Given the description of an element on the screen output the (x, y) to click on. 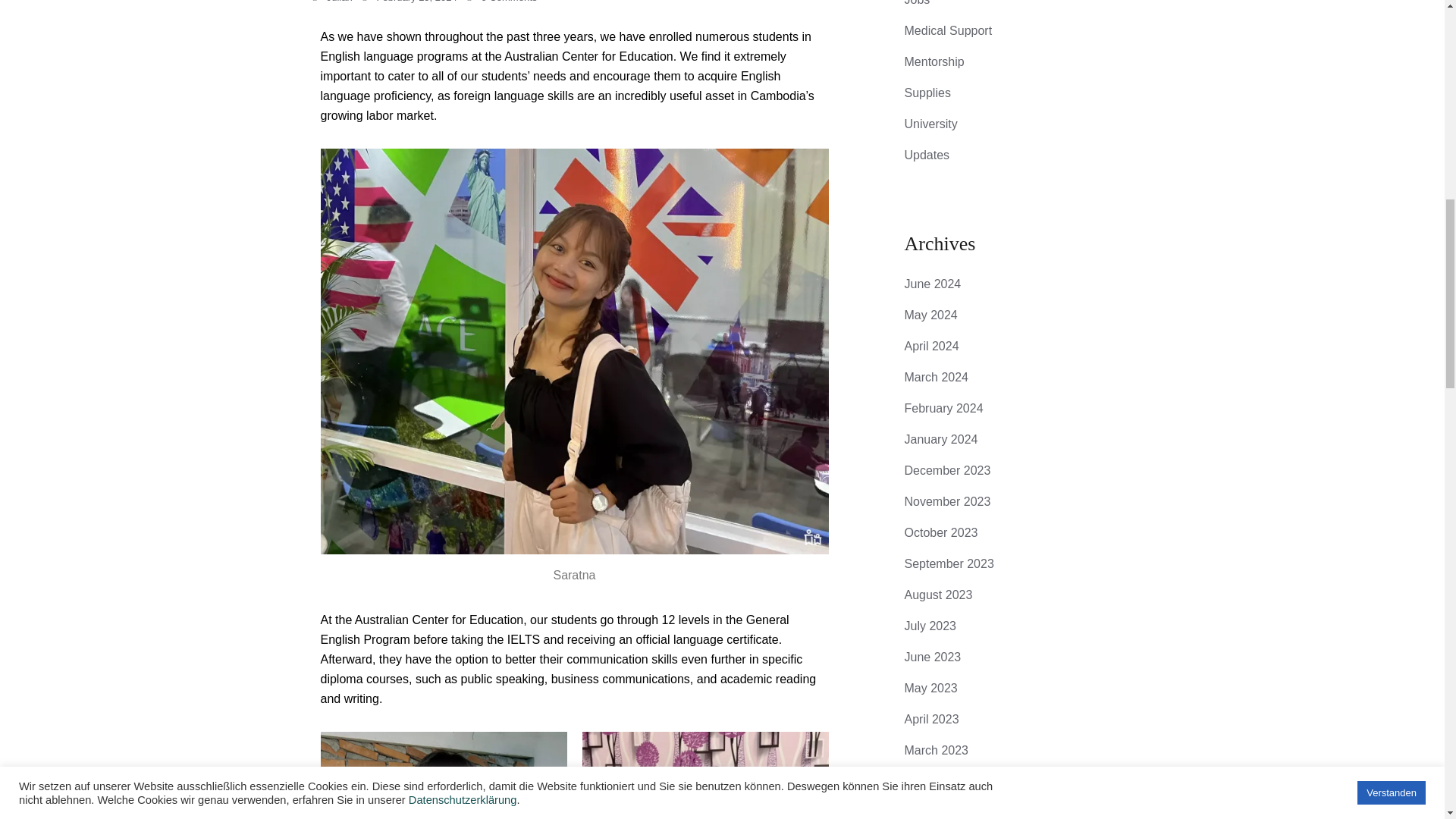
0 Comments (509, 1)
Julian (339, 1)
February 25, 2024 (416, 1)
